Given the description of an element on the screen output the (x, y) to click on. 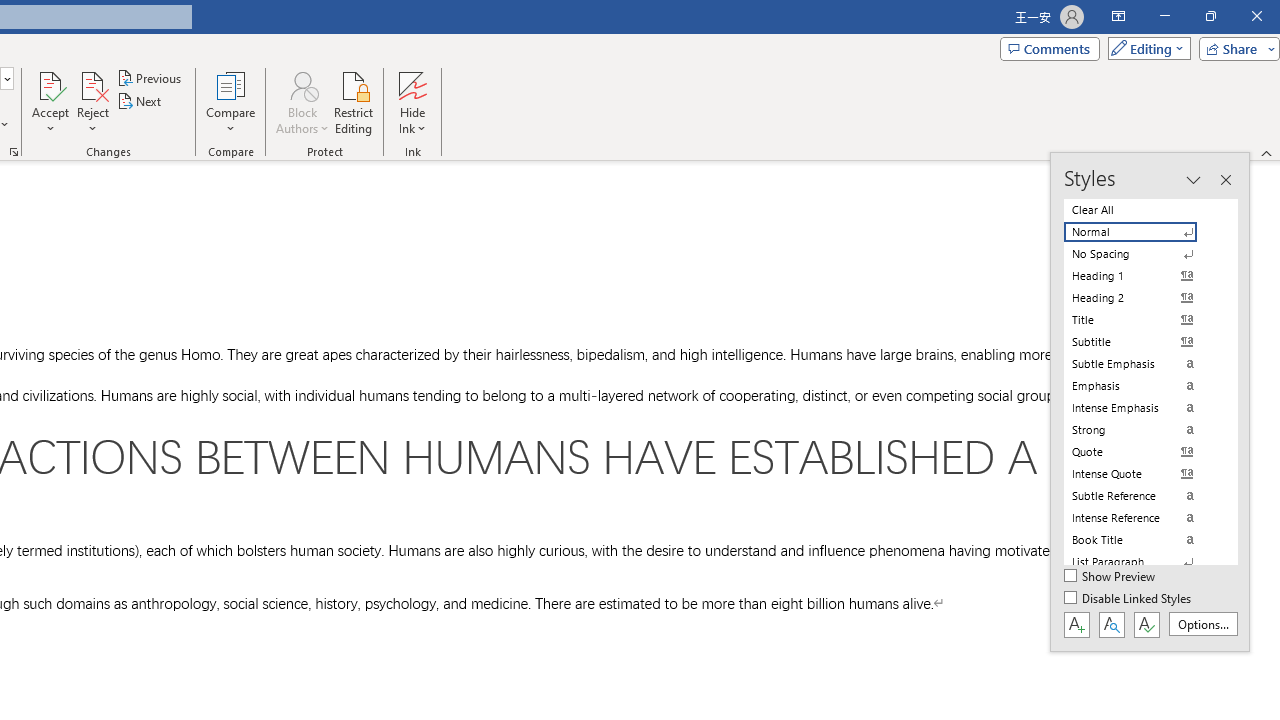
Heading 2 (1142, 297)
Show Preview (1110, 577)
Book Title (1142, 539)
Previous (150, 78)
Hide Ink (412, 102)
Accept and Move to Next (50, 84)
Hide Ink (412, 84)
Accept (50, 102)
Block Authors (302, 84)
